Given the description of an element on the screen output the (x, y) to click on. 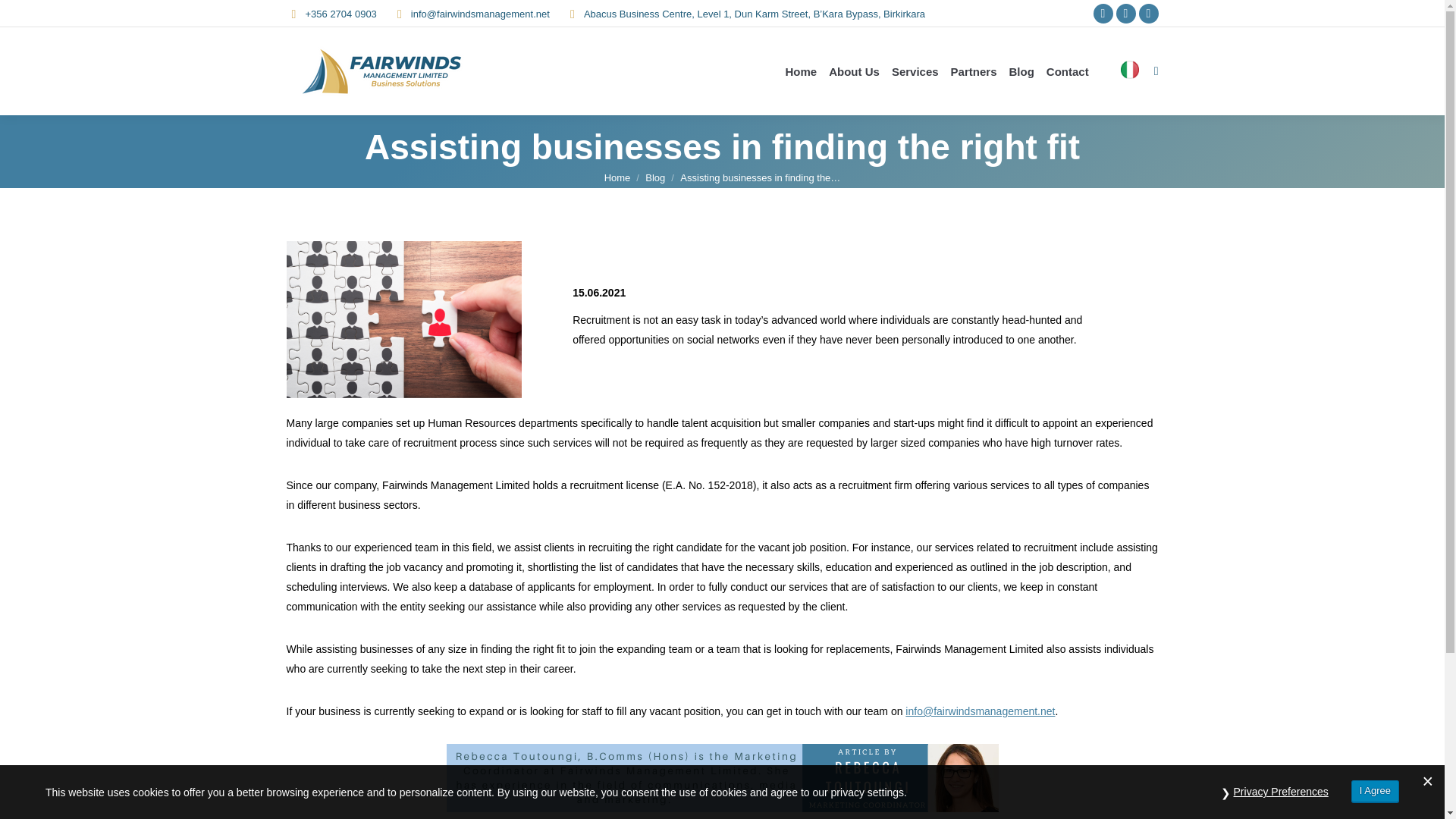
YouTube page opens in new window (1148, 13)
Linkedin page opens in new window (1125, 13)
Facebook page opens in new window (1103, 13)
Home (617, 177)
Linkedin page opens in new window (1125, 13)
Facebook page opens in new window (1103, 13)
Blog (655, 177)
YouTube page opens in new window (1148, 13)
